Given the description of an element on the screen output the (x, y) to click on. 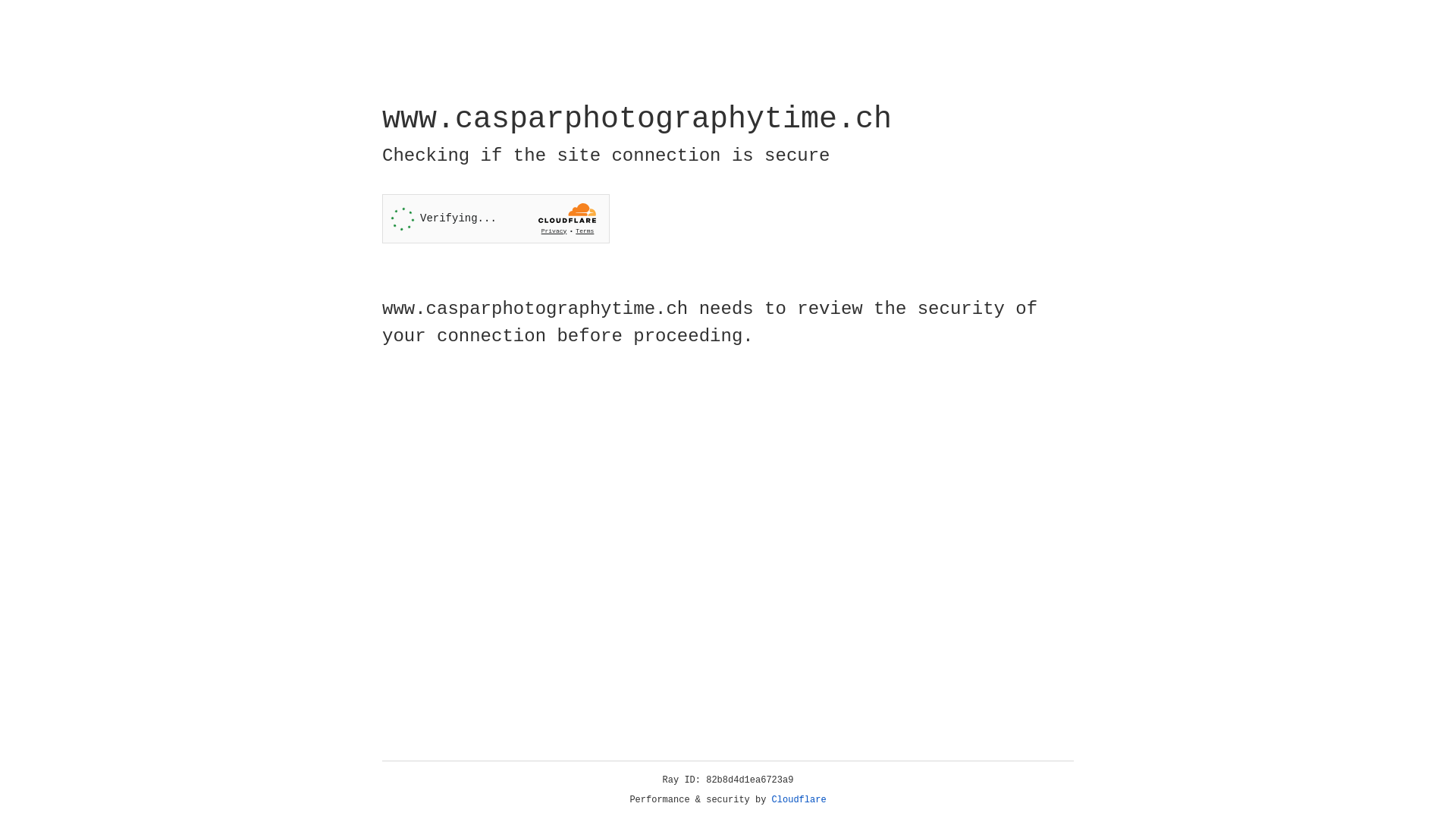
Cloudflare Element type: text (798, 799)
Widget containing a Cloudflare security challenge Element type: hover (495, 218)
